Given the description of an element on the screen output the (x, y) to click on. 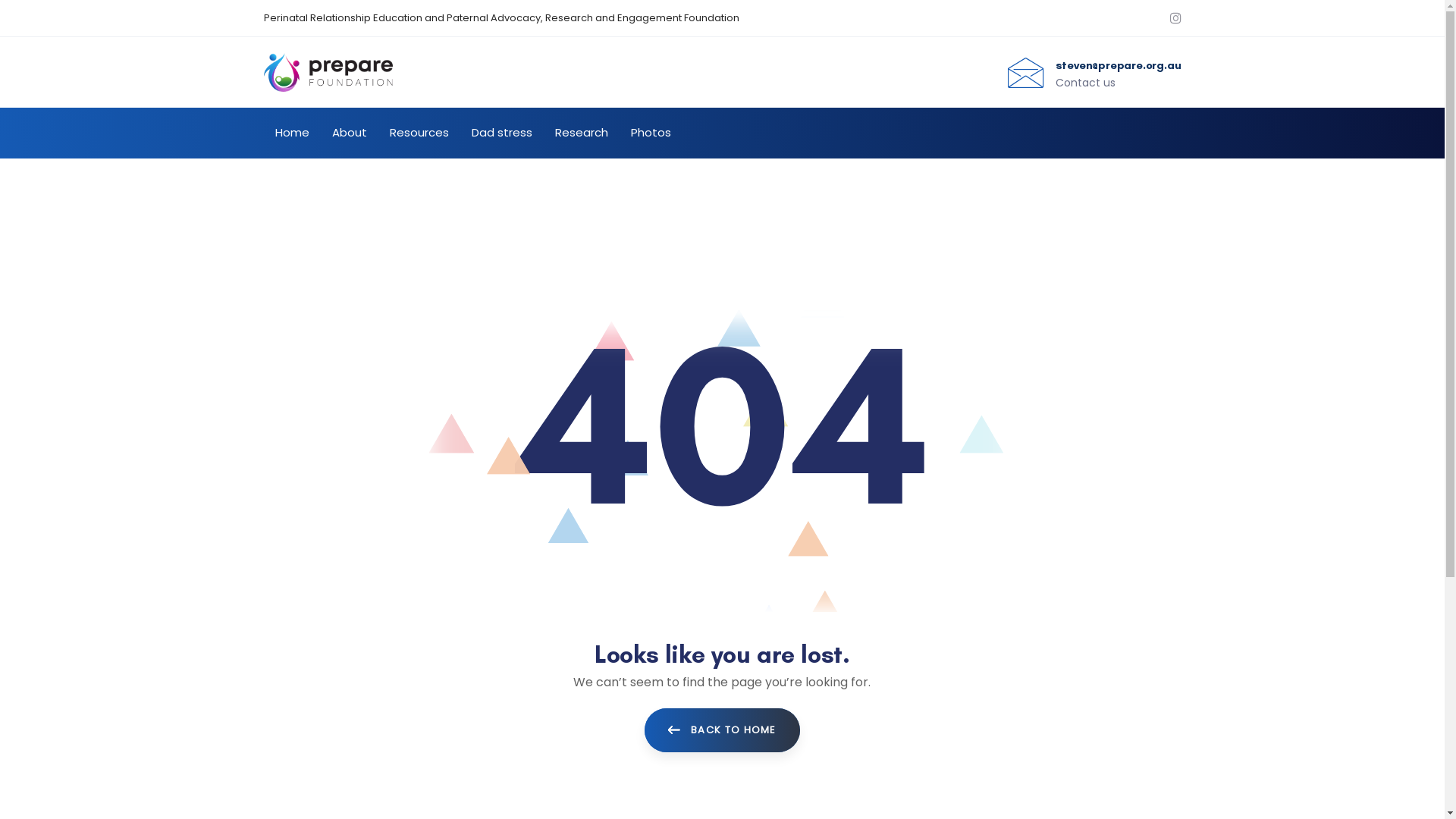
Research Element type: text (879, 647)
About Element type: text (348, 132)
Photos Element type: text (649, 132)
Home Element type: text (291, 132)
BACK TO HOME Element type: text (722, 730)
Dad stress Element type: text (722, 673)
qtq_95 Element type: hover (339, 595)
About Element type: text (722, 647)
Home Element type: text (722, 620)
Research Element type: text (580, 132)
Relationships Element type: text (879, 620)
Resources Element type: text (418, 132)
Dad stress Element type: text (500, 132)
Photo Contest Element type: text (879, 673)
